Given the description of an element on the screen output the (x, y) to click on. 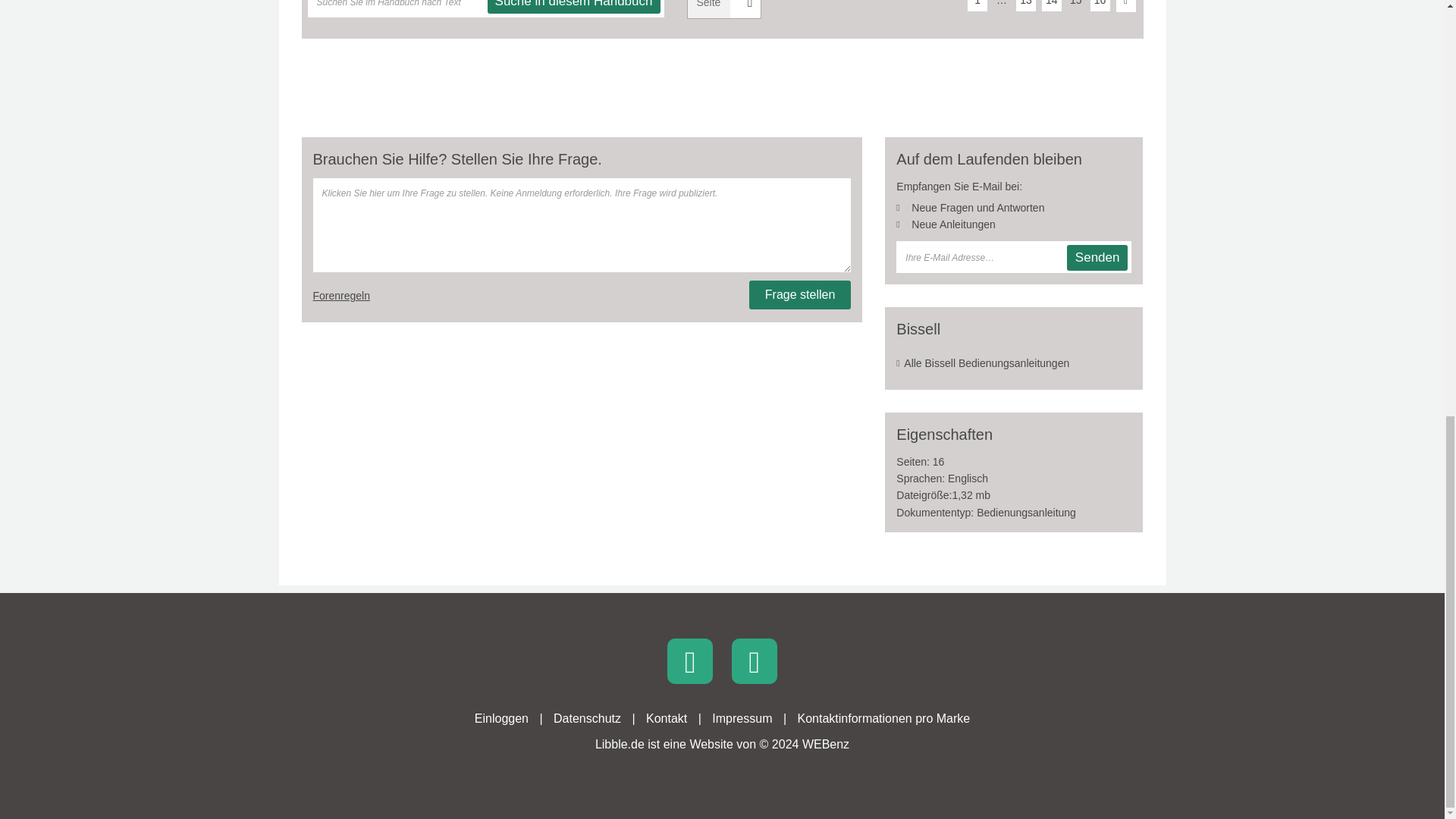
Kontaktinformationen pro Marke (884, 718)
Suche in diesem Handbuch (574, 6)
Alle Bissell Bedienungsanleitungen (1013, 363)
Bitte lesen Sie die Forenregeln hier (341, 295)
Datenschutz (587, 718)
Frage stellen (800, 294)
Forenregeln (341, 295)
Lesen Sie unsere Datenschutzbestimmungen (587, 718)
1 (977, 5)
14 (1051, 5)
